Given the description of an element on the screen output the (x, y) to click on. 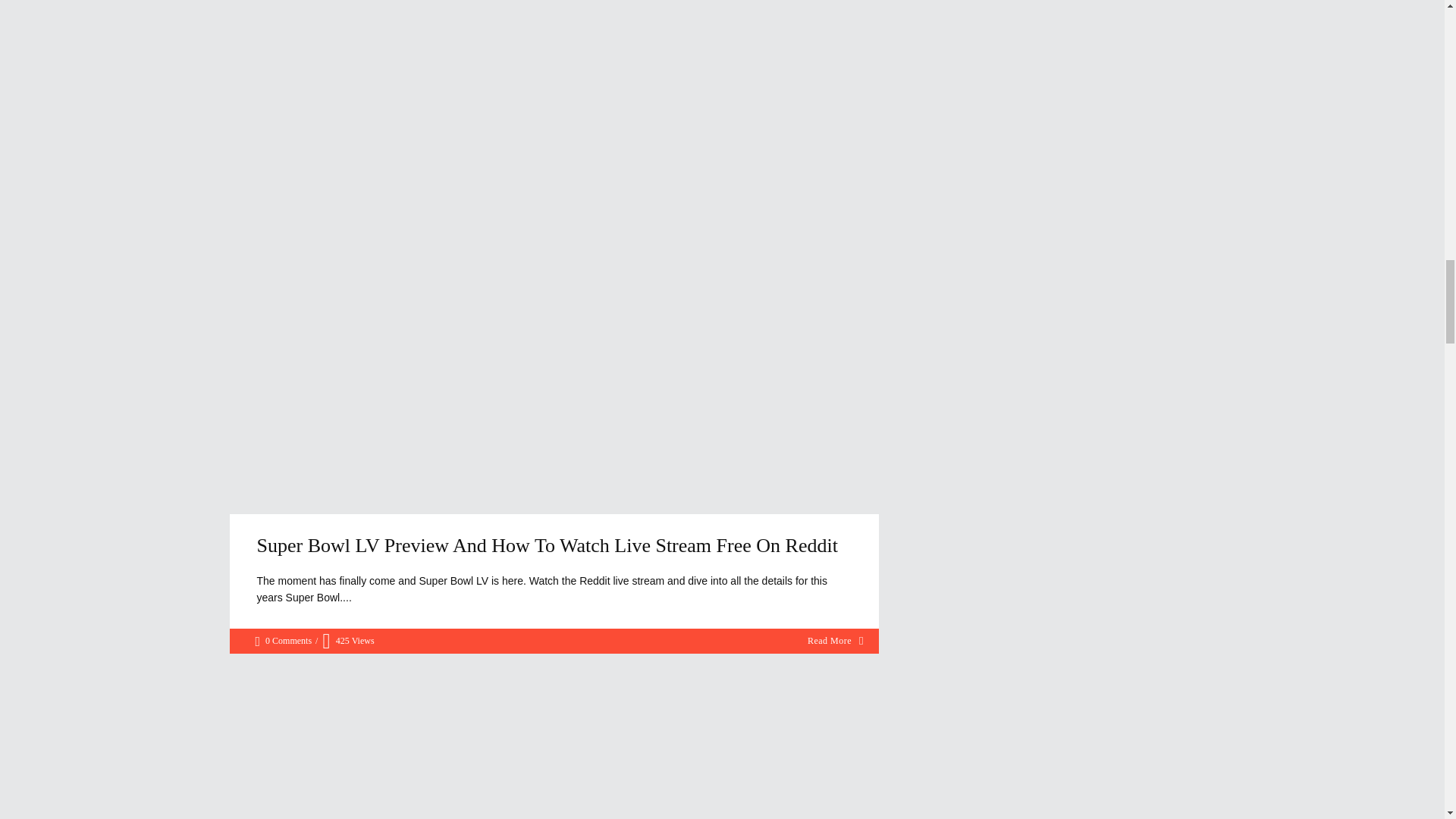
How to watch Super Bowl 2021 LV: Live stream online (553, 746)
Read More (835, 640)
0 Comments (282, 640)
